Given the description of an element on the screen output the (x, y) to click on. 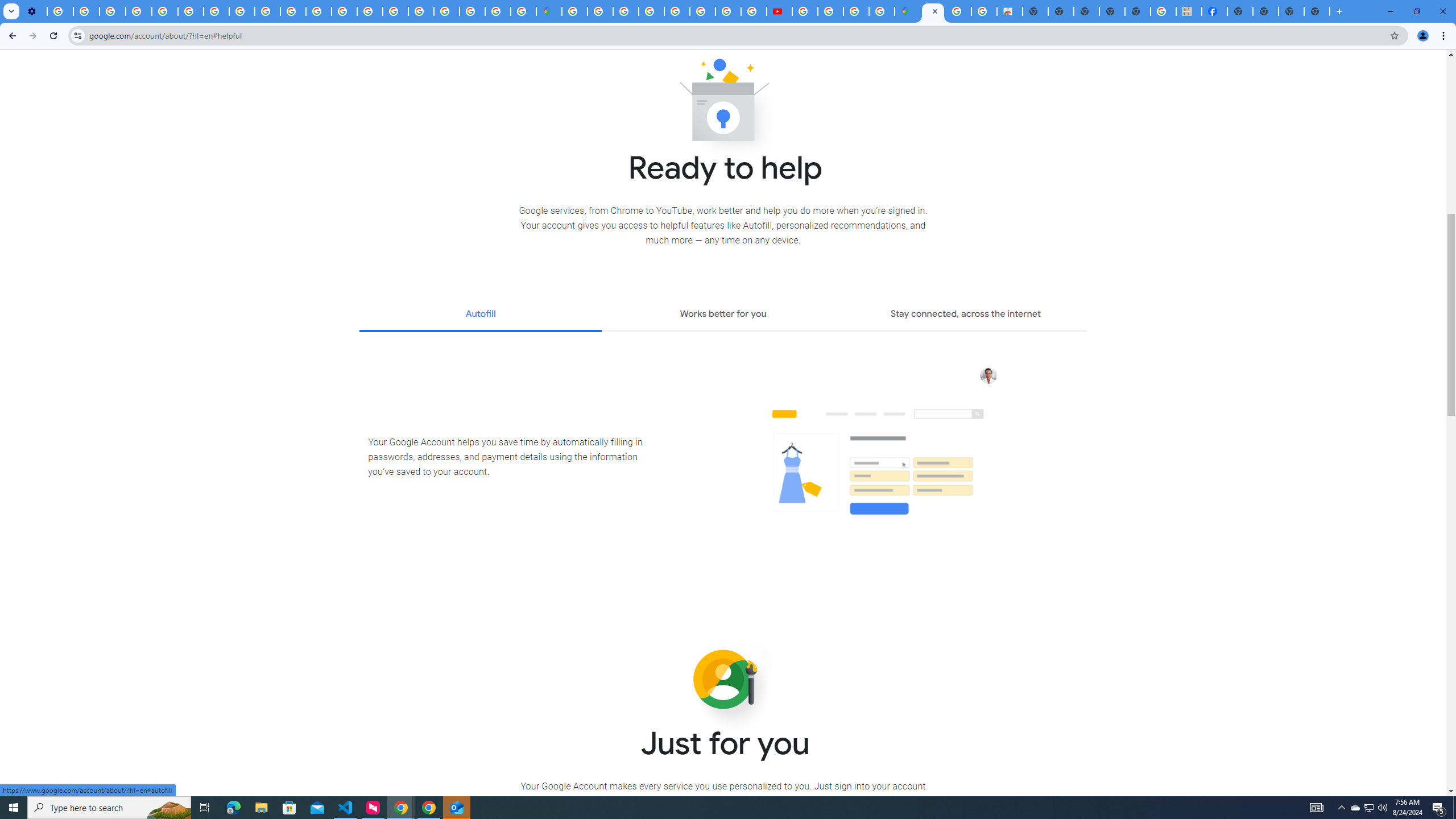
Sign in - Google Accounts (600, 11)
Privacy Help Center - Policies Help (165, 11)
Ready to help (722, 103)
Works better for you (722, 315)
Stay connected, across the internet (965, 315)
Just for you (722, 679)
